Given the description of an element on the screen output the (x, y) to click on. 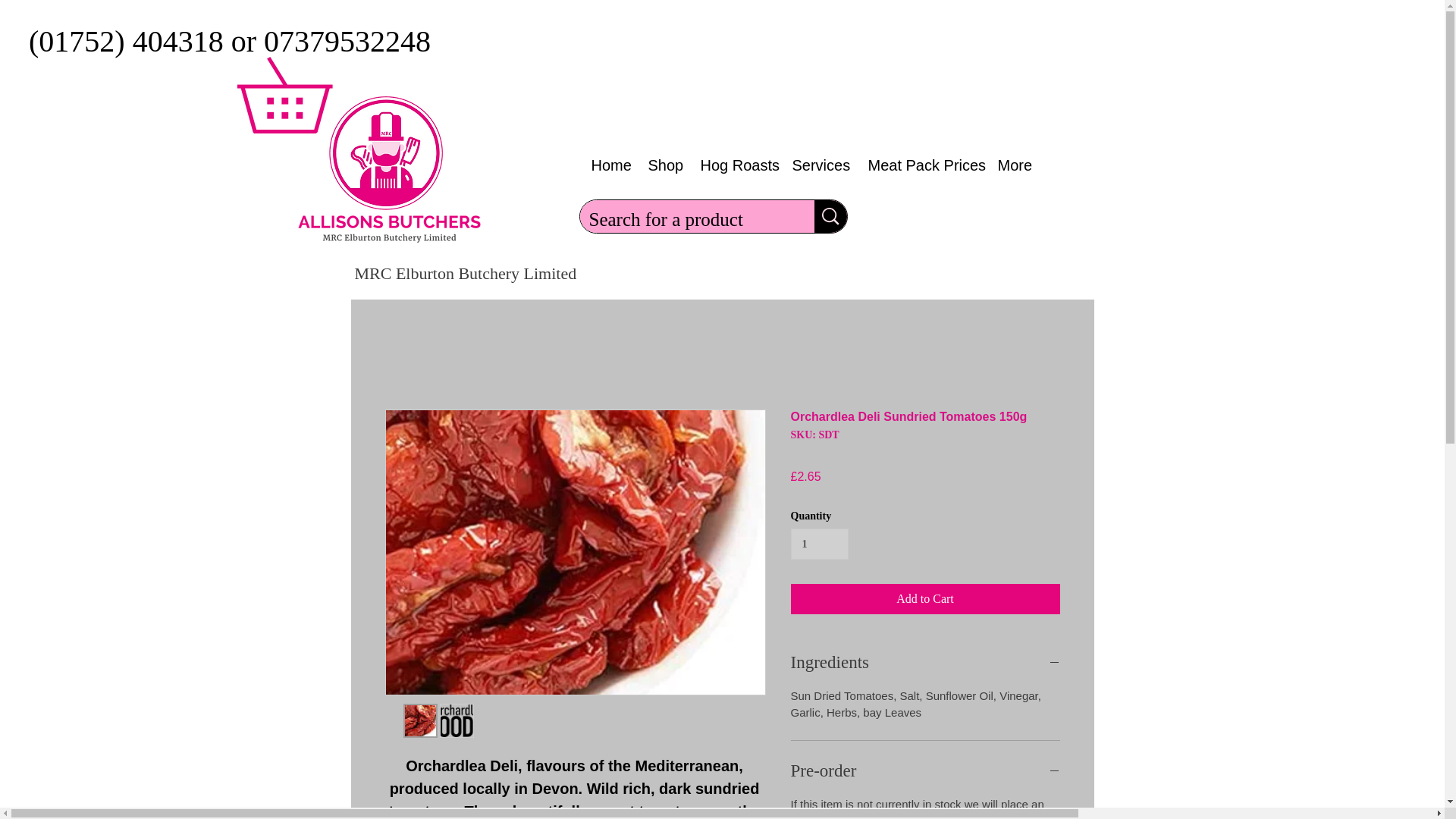
Add to Cart (924, 598)
1 (818, 543)
Home (607, 165)
Services (818, 165)
Pre-order (924, 770)
Ingredients (924, 662)
Meat Pack Prices (922, 165)
Hog Roasts (734, 165)
